Given the description of an element on the screen output the (x, y) to click on. 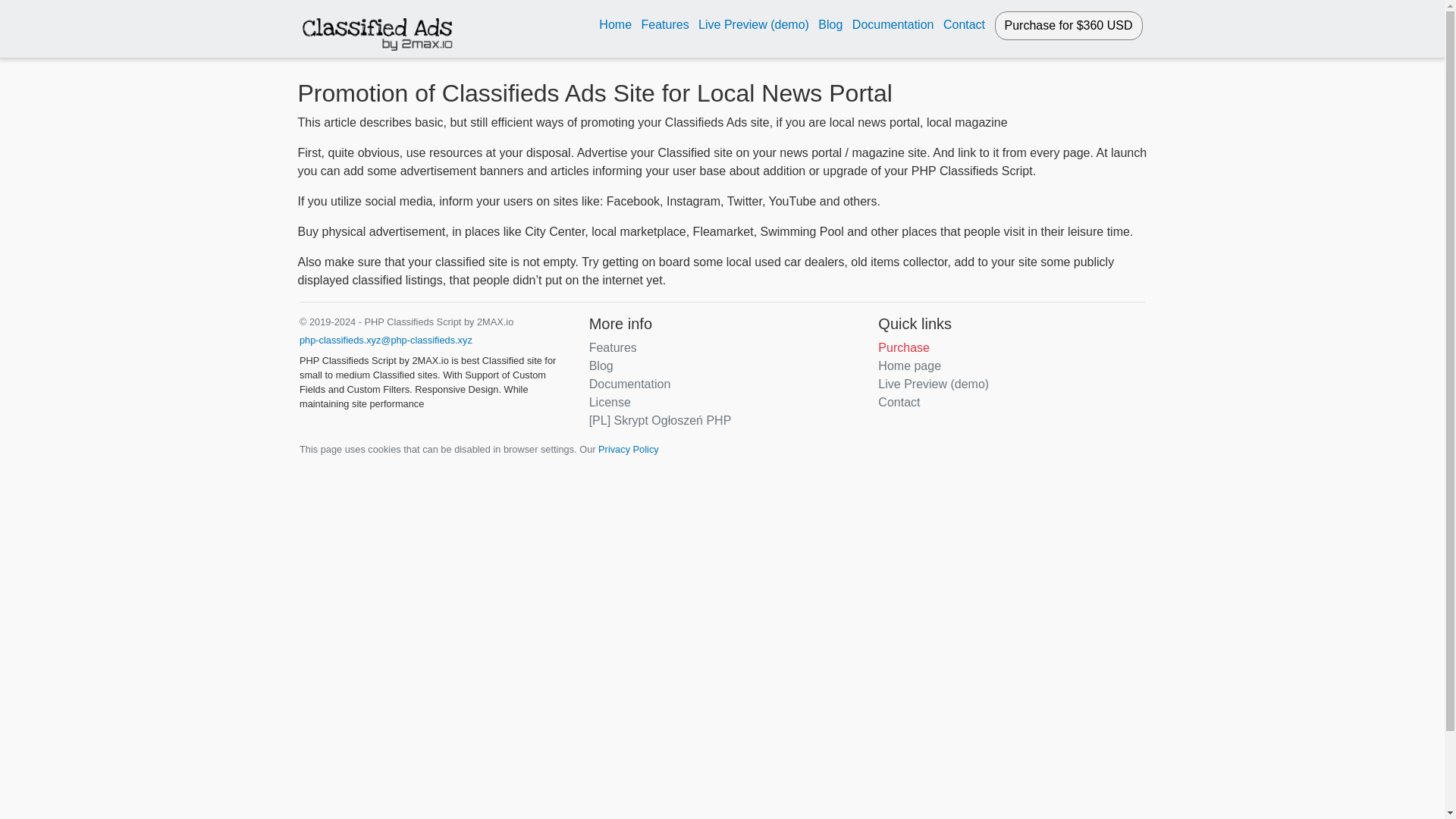
Documentation (630, 383)
Contact (964, 24)
Contact (898, 401)
Home (614, 24)
Features (613, 347)
Documentation (892, 24)
Blog (600, 365)
Privacy Policy (628, 449)
Home page (908, 365)
Blog (830, 24)
Purchase (903, 347)
Features (664, 24)
2MAX.io PHP Classifieds (376, 28)
License (609, 401)
